Given the description of an element on the screen output the (x, y) to click on. 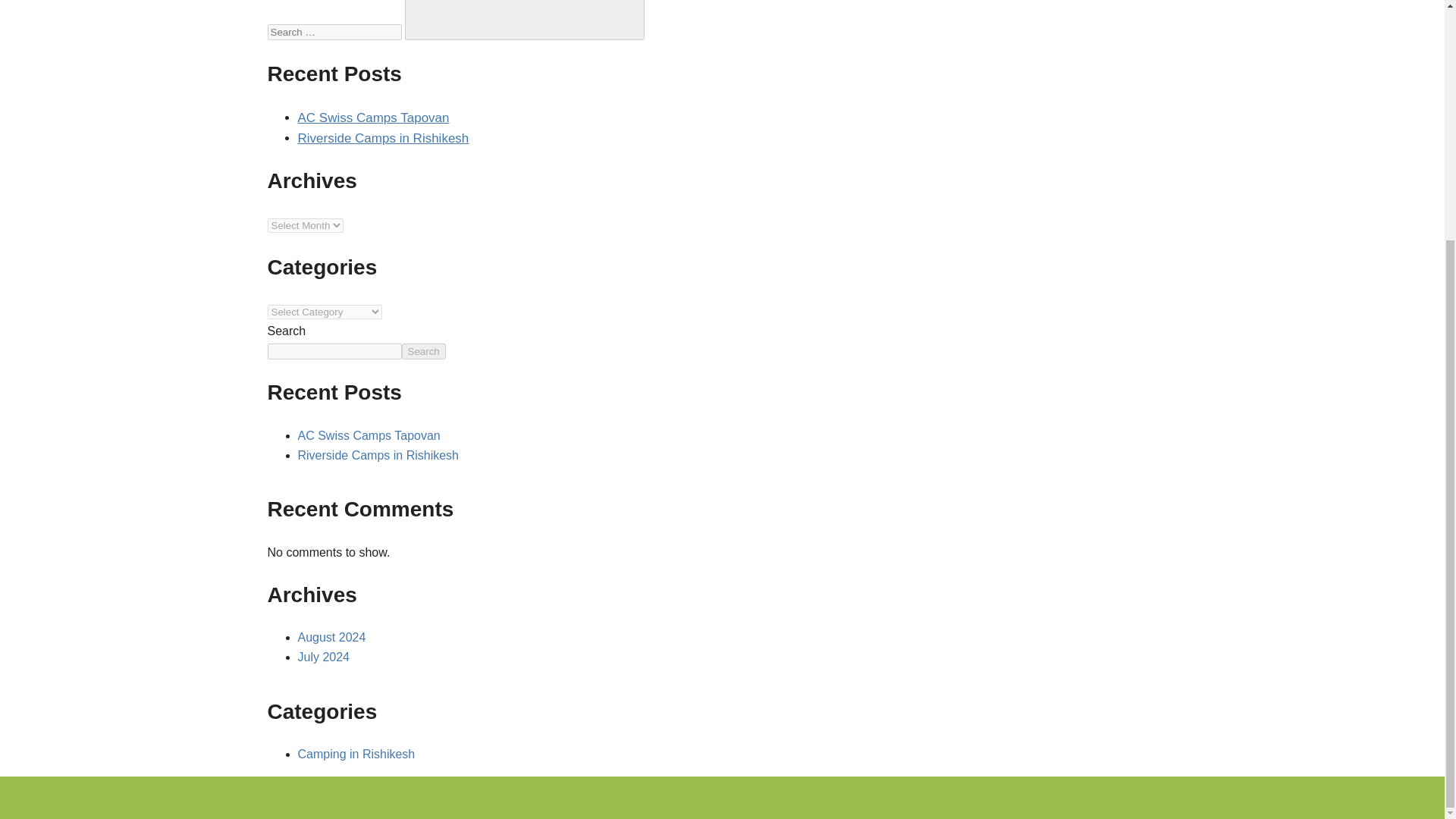
AC Swiss Camps Tapovan (372, 117)
Riverside Camps in Rishikesh (382, 138)
August 2024 (331, 636)
Riverside Camps in Rishikesh (377, 454)
Search (423, 351)
Search for: (333, 32)
Search (524, 20)
AC Swiss Camps Tapovan (368, 435)
July 2024 (323, 656)
Camping in Rishikesh (355, 753)
